Given the description of an element on the screen output the (x, y) to click on. 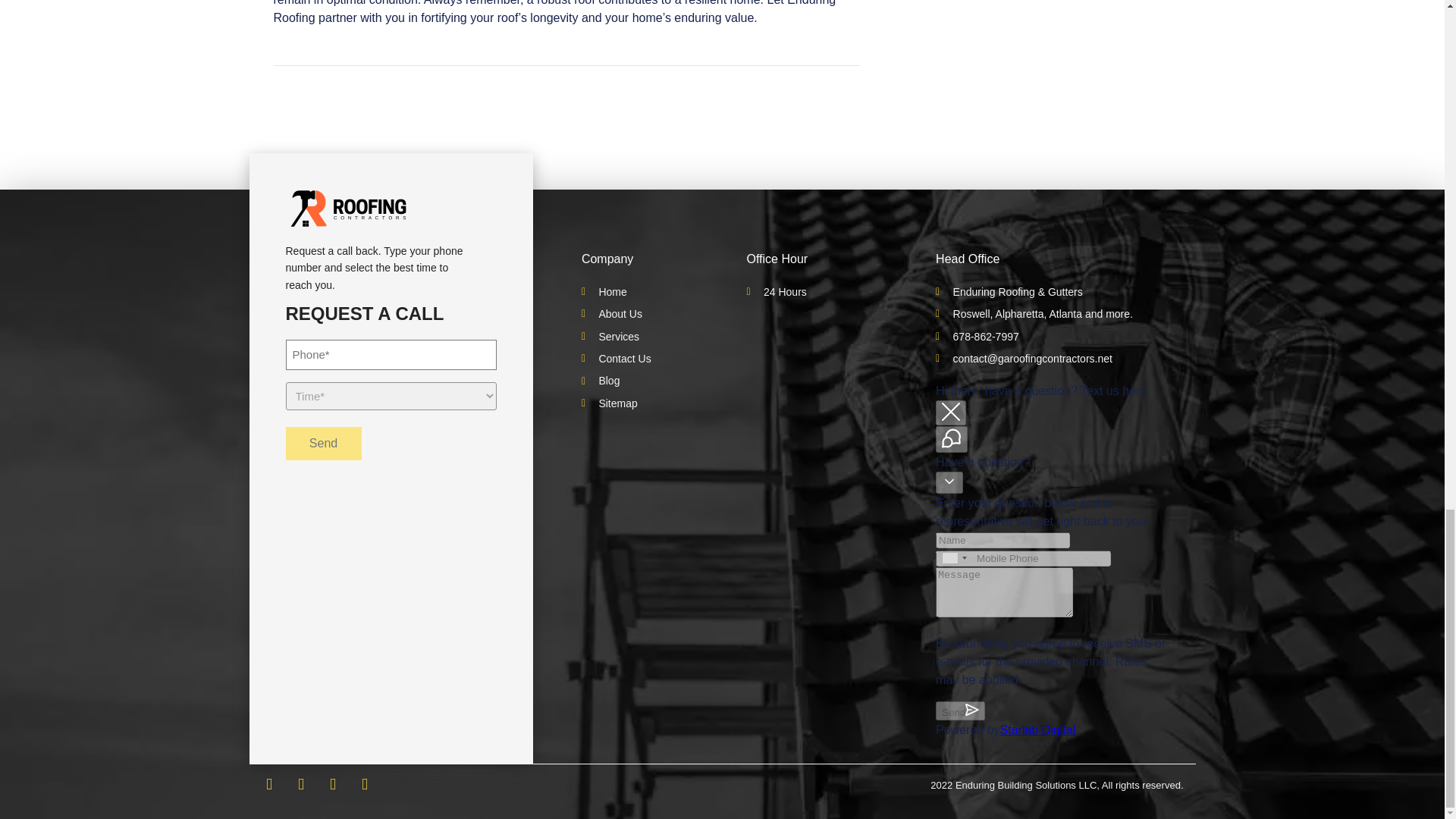
RC-Website (347, 208)
Send (323, 443)
